Given the description of an element on the screen output the (x, y) to click on. 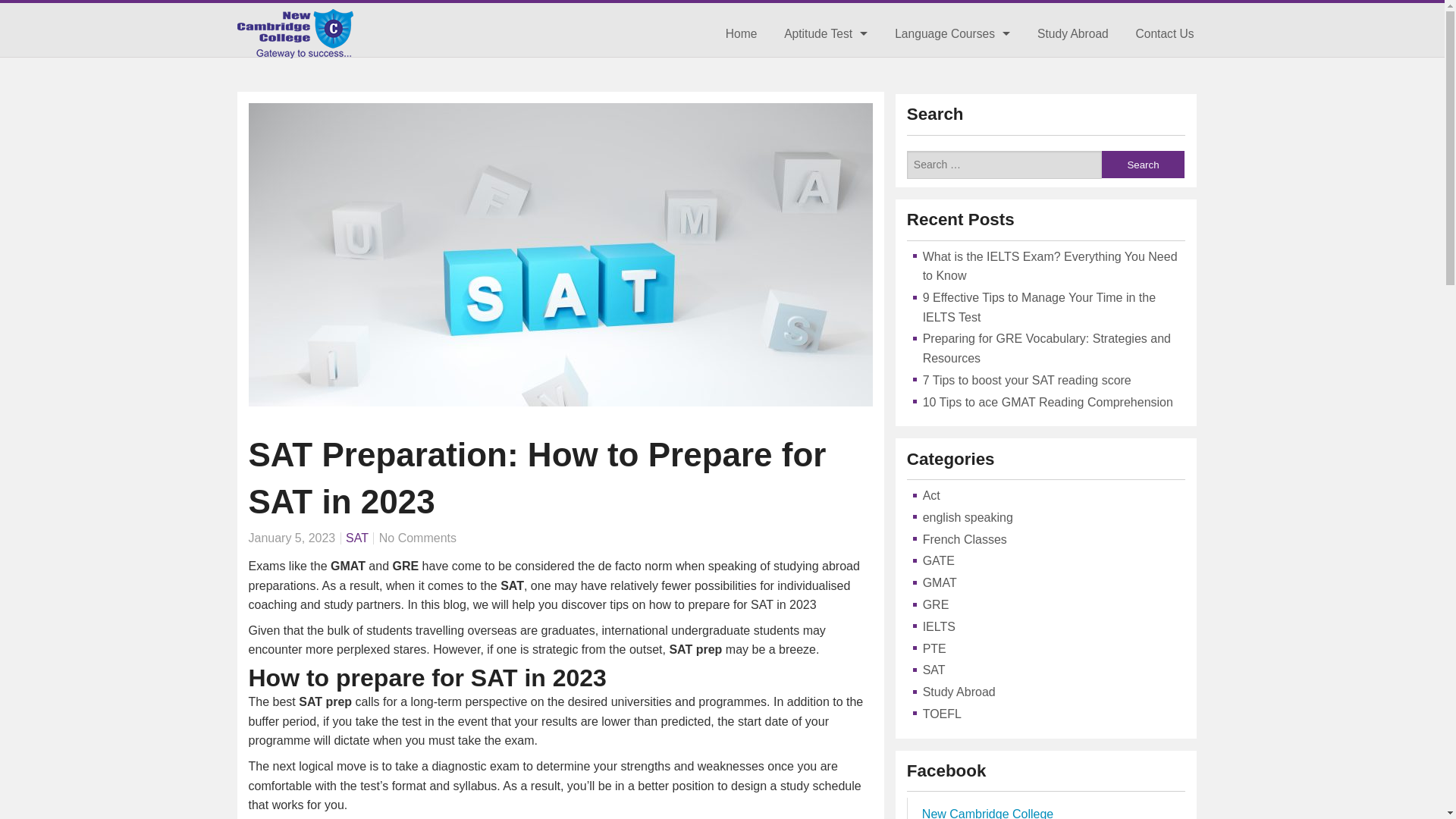
Study Abroad (1072, 33)
GATE (939, 560)
10 Tips to ace GMAT Reading Comprehension  (1049, 401)
CELPIP Coaching (952, 238)
Language Courses (952, 33)
9 Effective Tips to Manage Your Time in the IELTS Test (1039, 307)
PTE Coaching (952, 135)
ACT Coaching (826, 170)
French Classes (952, 204)
French Classes (965, 539)
SAT Preparation: How to Prepare for SAT in 2023 (560, 477)
IELTS Coaching (952, 67)
Contact Us (1164, 33)
Spoken English (952, 170)
GMAT Coaching (826, 67)
